Given the description of an element on the screen output the (x, y) to click on. 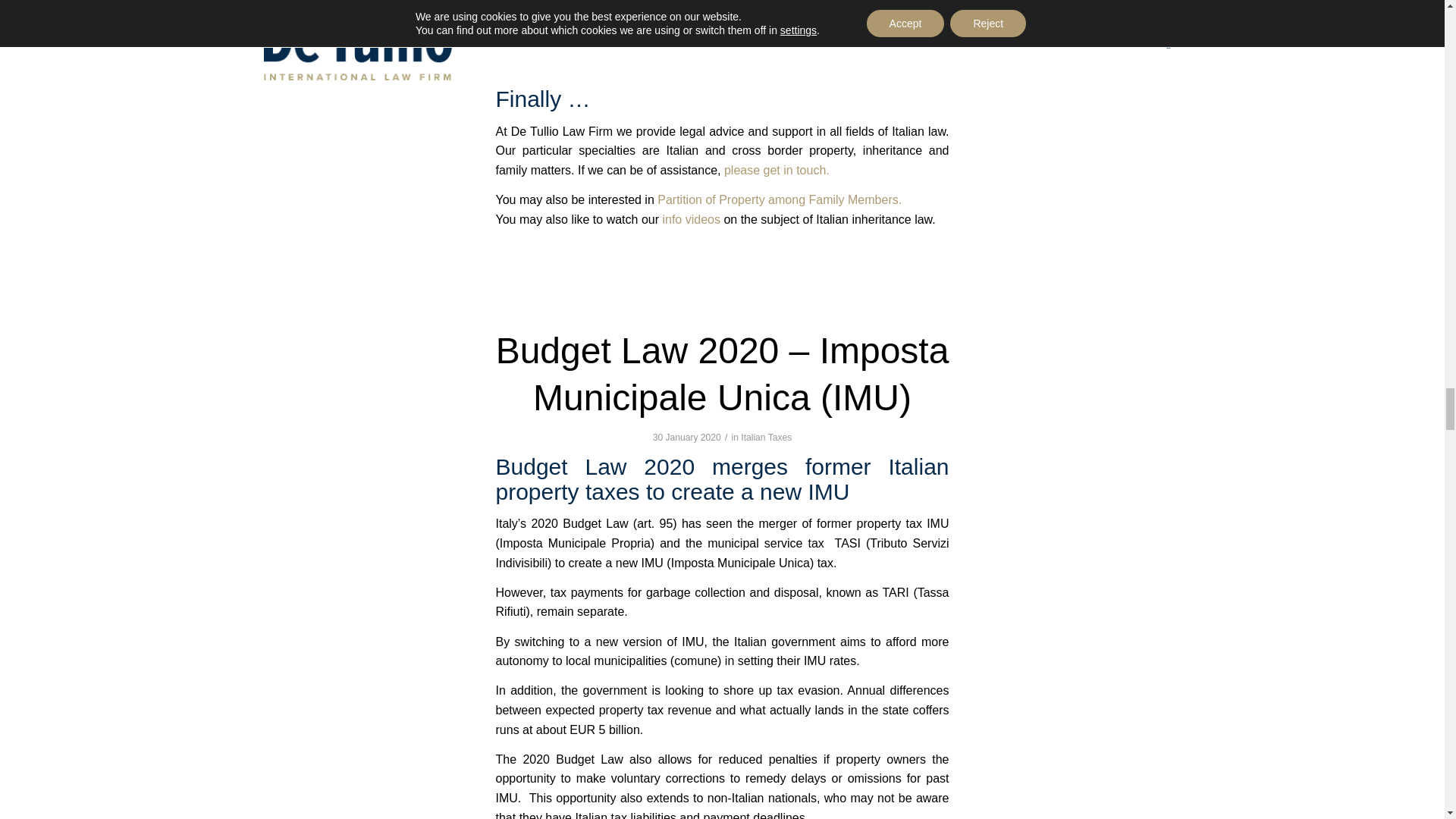
please get in touch. (776, 169)
